Given the description of an element on the screen output the (x, y) to click on. 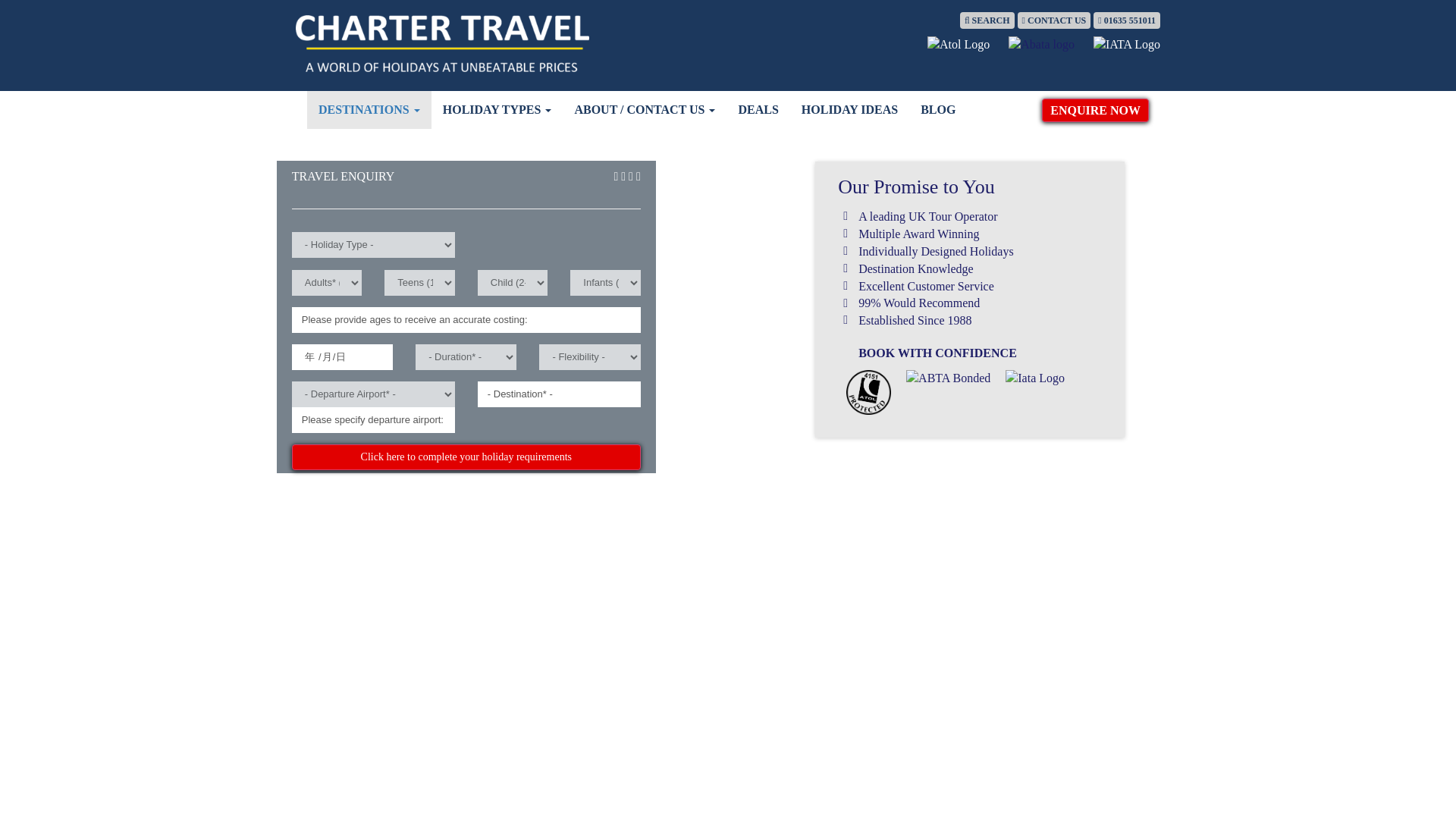
IATA logo (1126, 45)
Charter Travel (442, 43)
Contact Us (1053, 20)
CONTACT US (1053, 20)
01635 551011 (1126, 20)
Atol logo (958, 45)
SEARCH (986, 20)
Search (986, 20)
Abta logo (1041, 45)
